Given the description of an element on the screen output the (x, y) to click on. 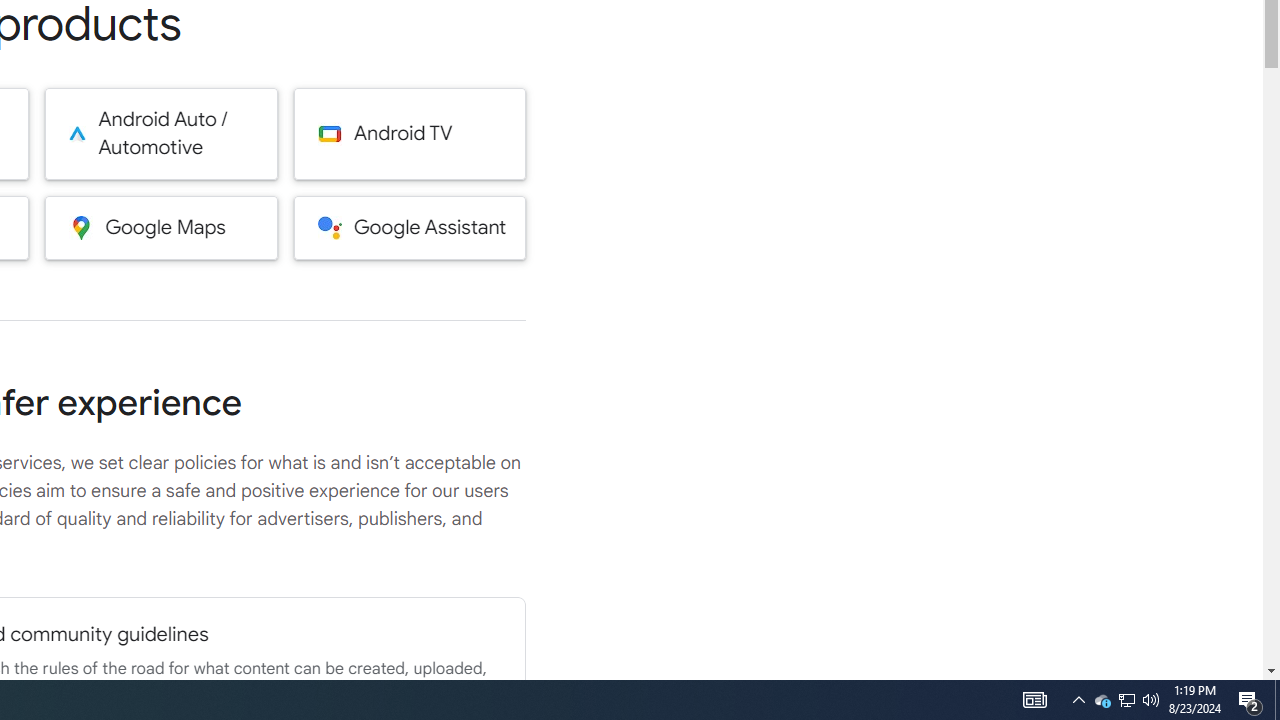
Android Auto / Automotive (160, 133)
Google Assistant (410, 227)
Google Maps (160, 227)
Android TV (410, 133)
